Given the description of an element on the screen output the (x, y) to click on. 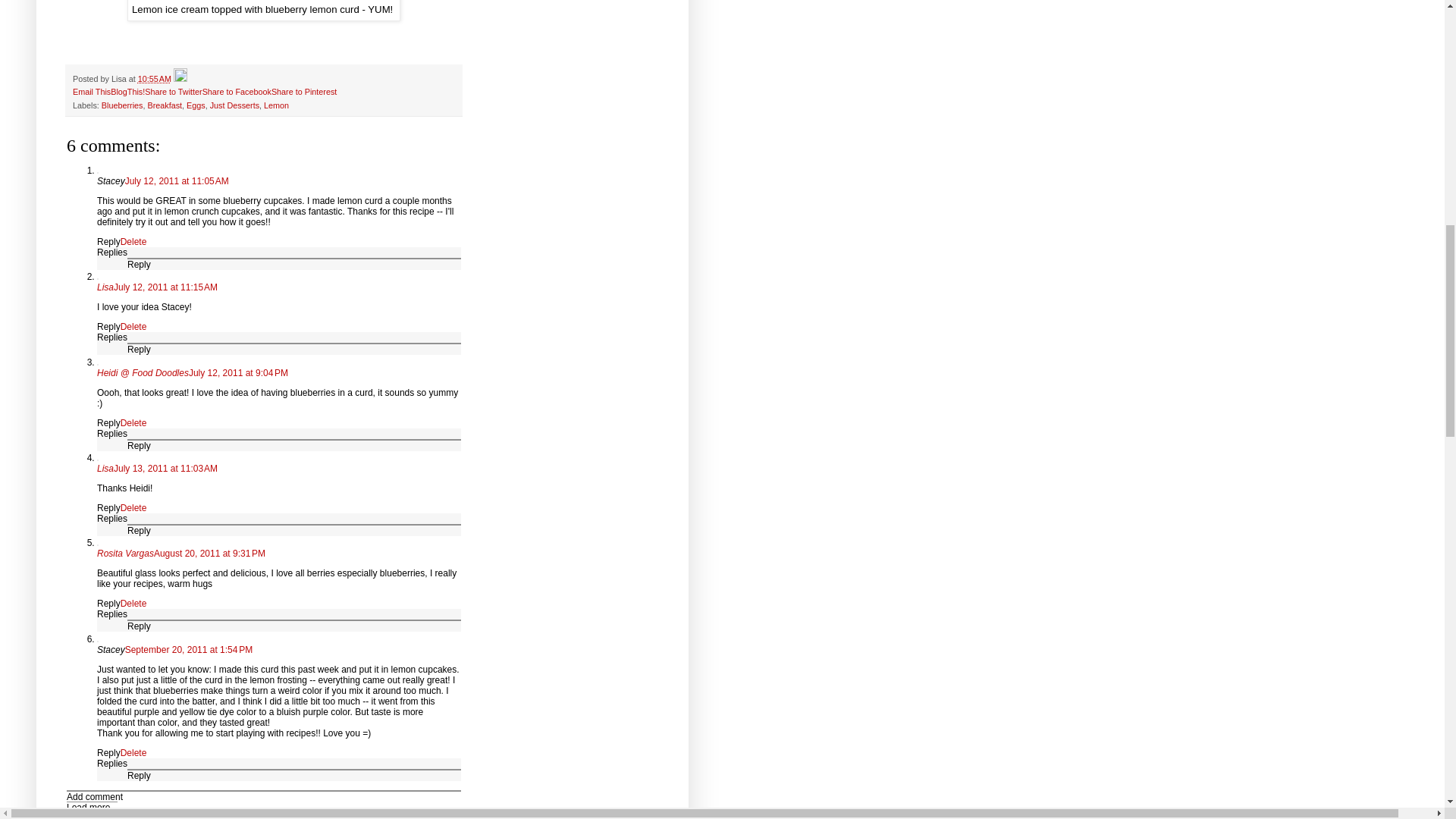
Reply (139, 348)
Email This (91, 91)
BlogThis! (127, 91)
Delete (133, 422)
Just Desserts (234, 103)
Reply (108, 241)
BlogThis! (127, 91)
Replies (112, 337)
Blueberries (121, 103)
Delete (133, 326)
Replies (112, 433)
Eggs (195, 103)
Share to Facebook (236, 91)
